Given the description of an element on the screen output the (x, y) to click on. 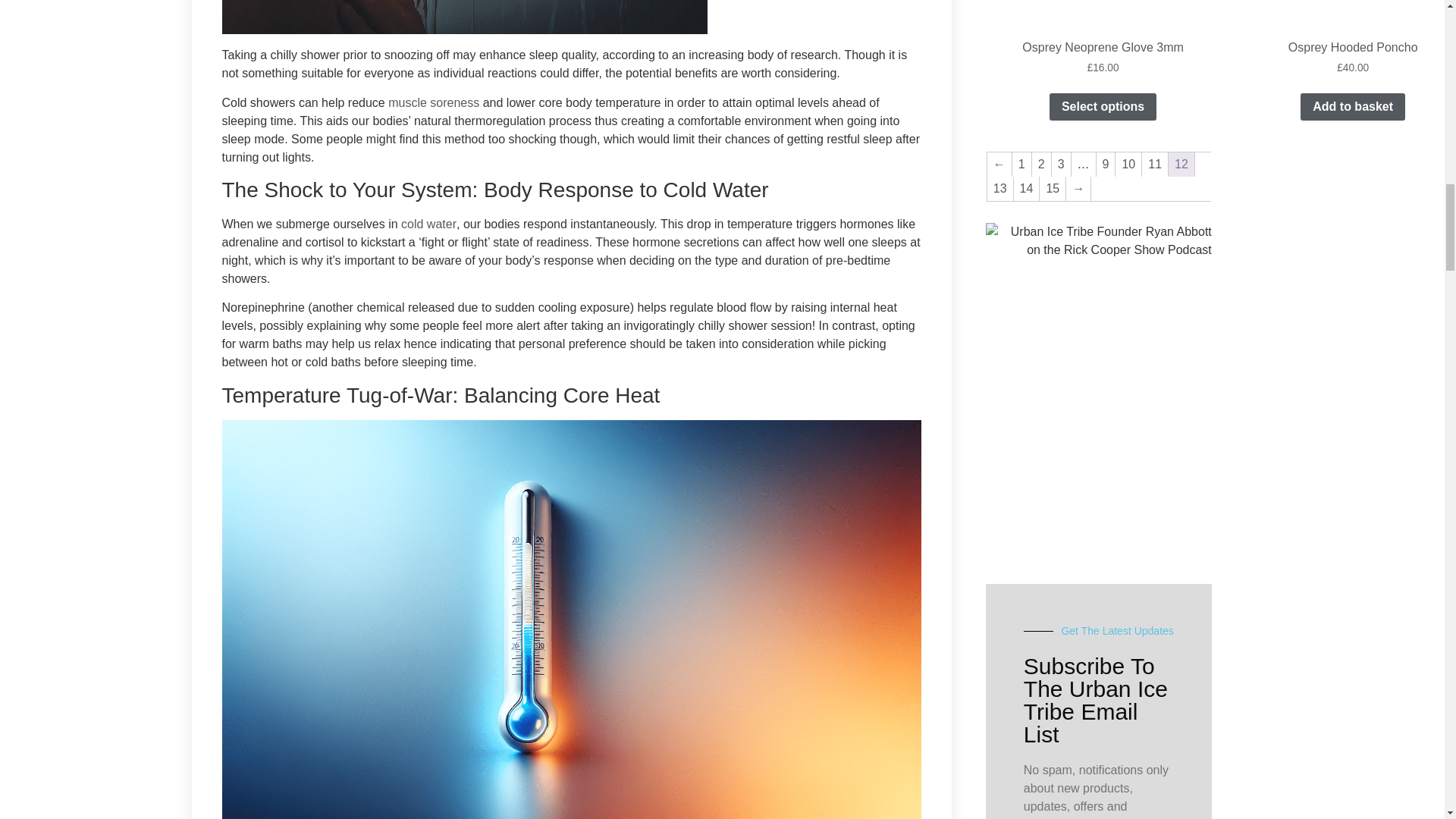
muscle soreness (433, 102)
cold water (429, 223)
